Given the description of an element on the screen output the (x, y) to click on. 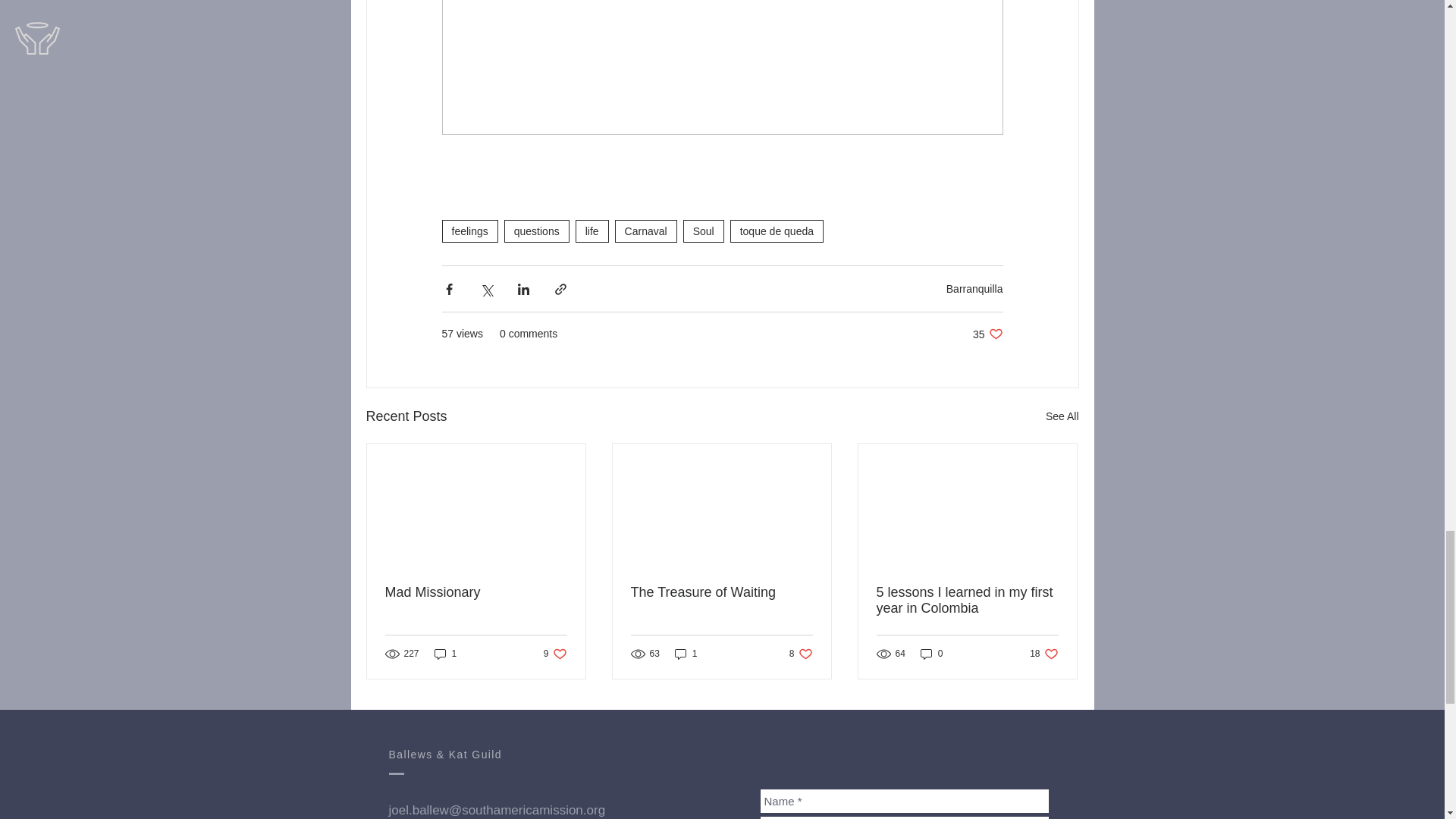
Carnaval (645, 231)
The Treasure of Waiting (721, 592)
feelings (987, 333)
See All (469, 231)
Barranquilla (1061, 416)
Soul (974, 288)
toque de queda (702, 231)
Mad Missionary (777, 231)
life (555, 653)
questions (476, 592)
1 (591, 231)
